Given the description of an element on the screen output the (x, y) to click on. 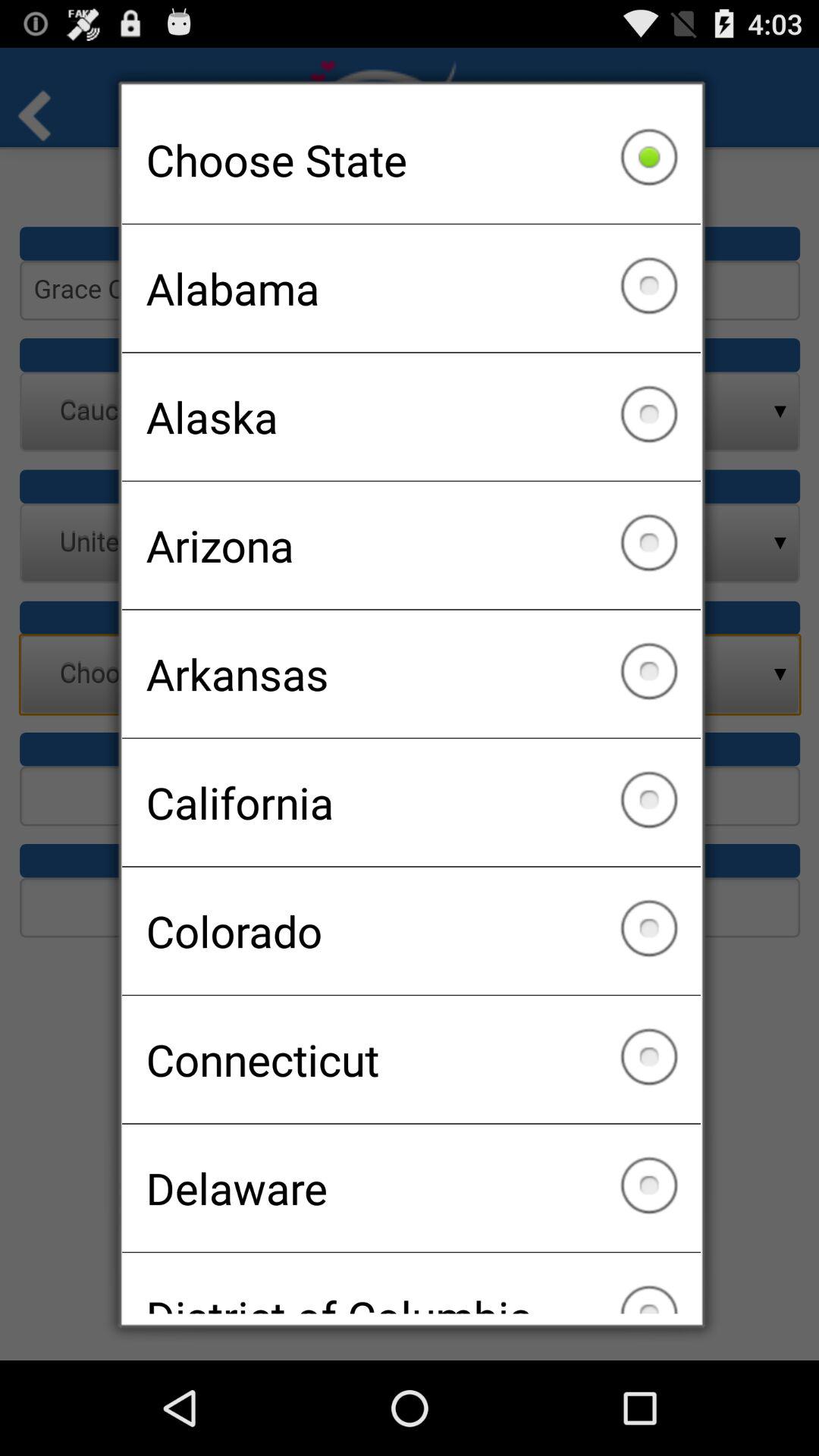
launch the checkbox above alabama item (411, 159)
